Given the description of an element on the screen output the (x, y) to click on. 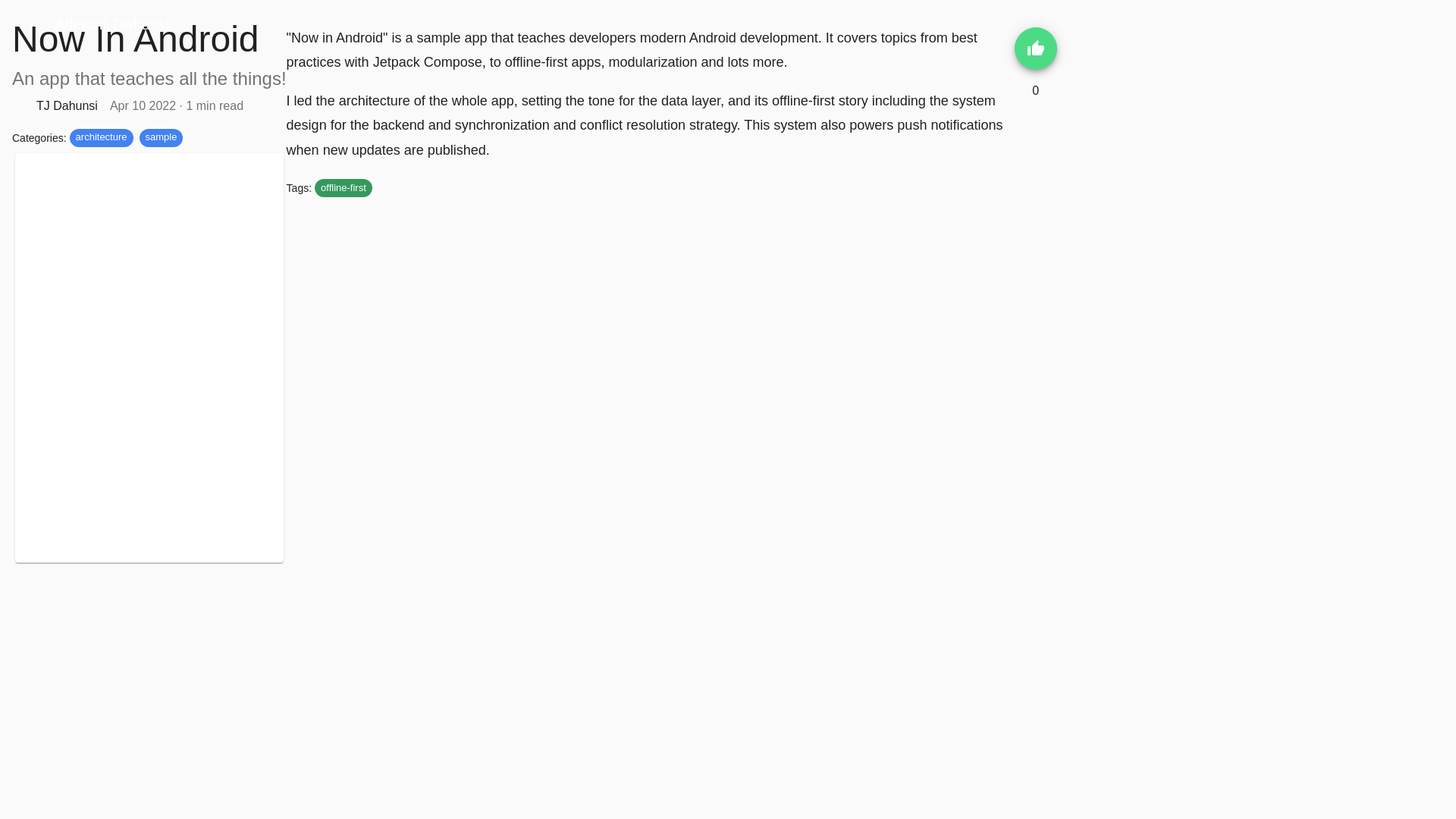
architecture (101, 137)
sample (161, 137)
offline-first (343, 188)
